Given the description of an element on the screen output the (x, y) to click on. 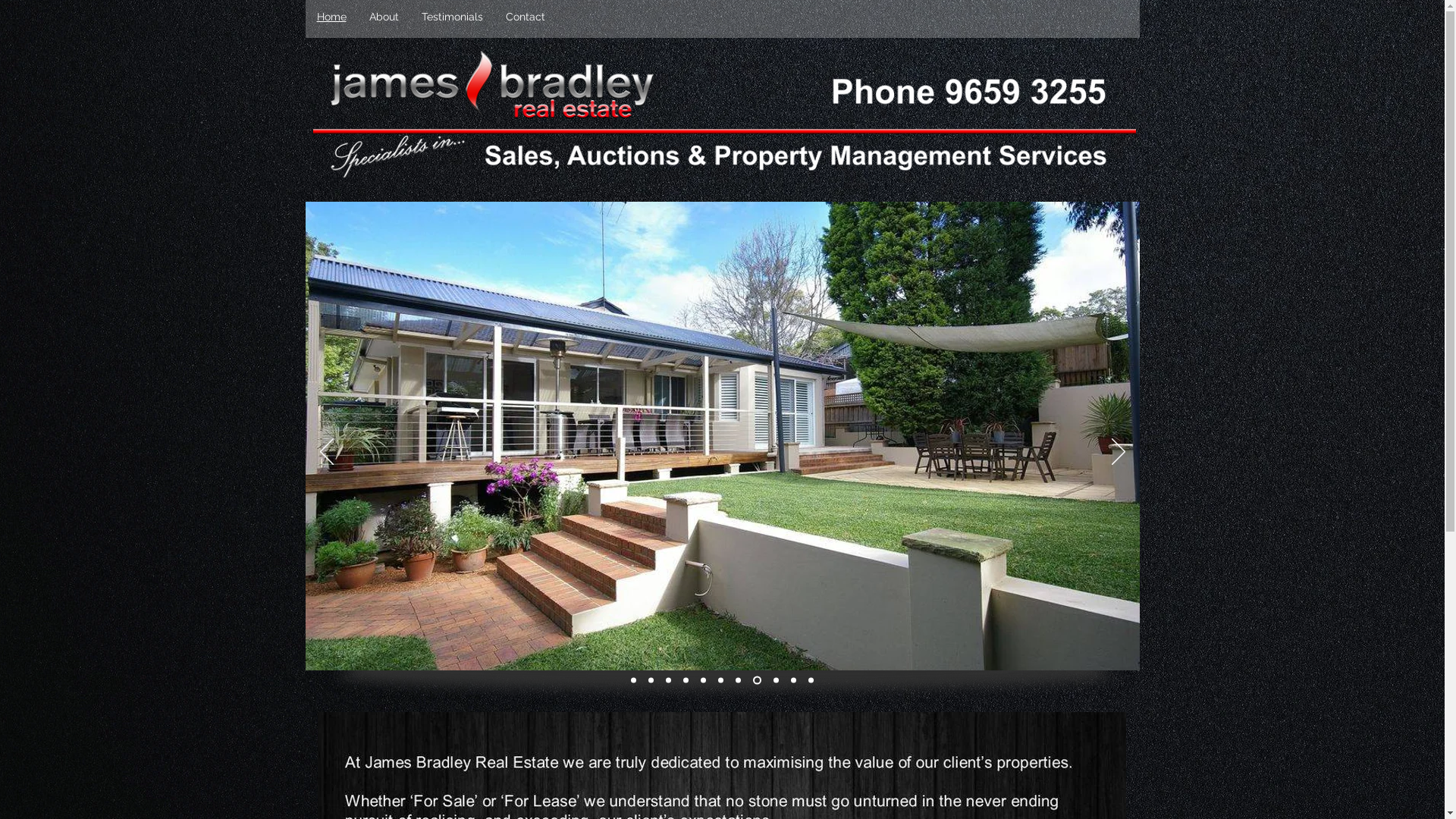
Testimonials Element type: text (451, 16)
About Element type: text (383, 16)
Home Element type: text (330, 15)
Contact Element type: text (525, 16)
